Given the description of an element on the screen output the (x, y) to click on. 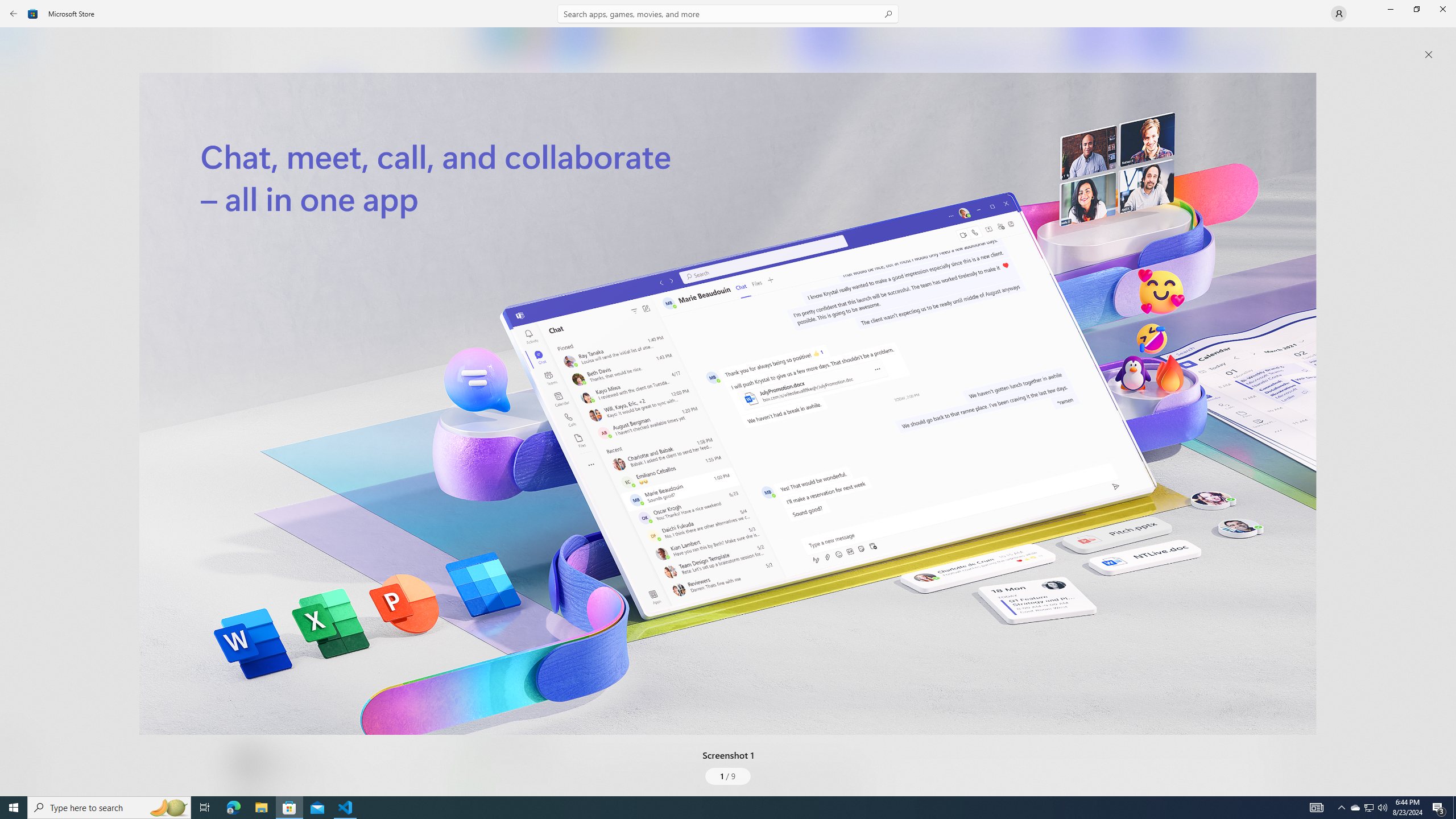
What's New (20, 738)
